Given the description of an element on the screen output the (x, y) to click on. 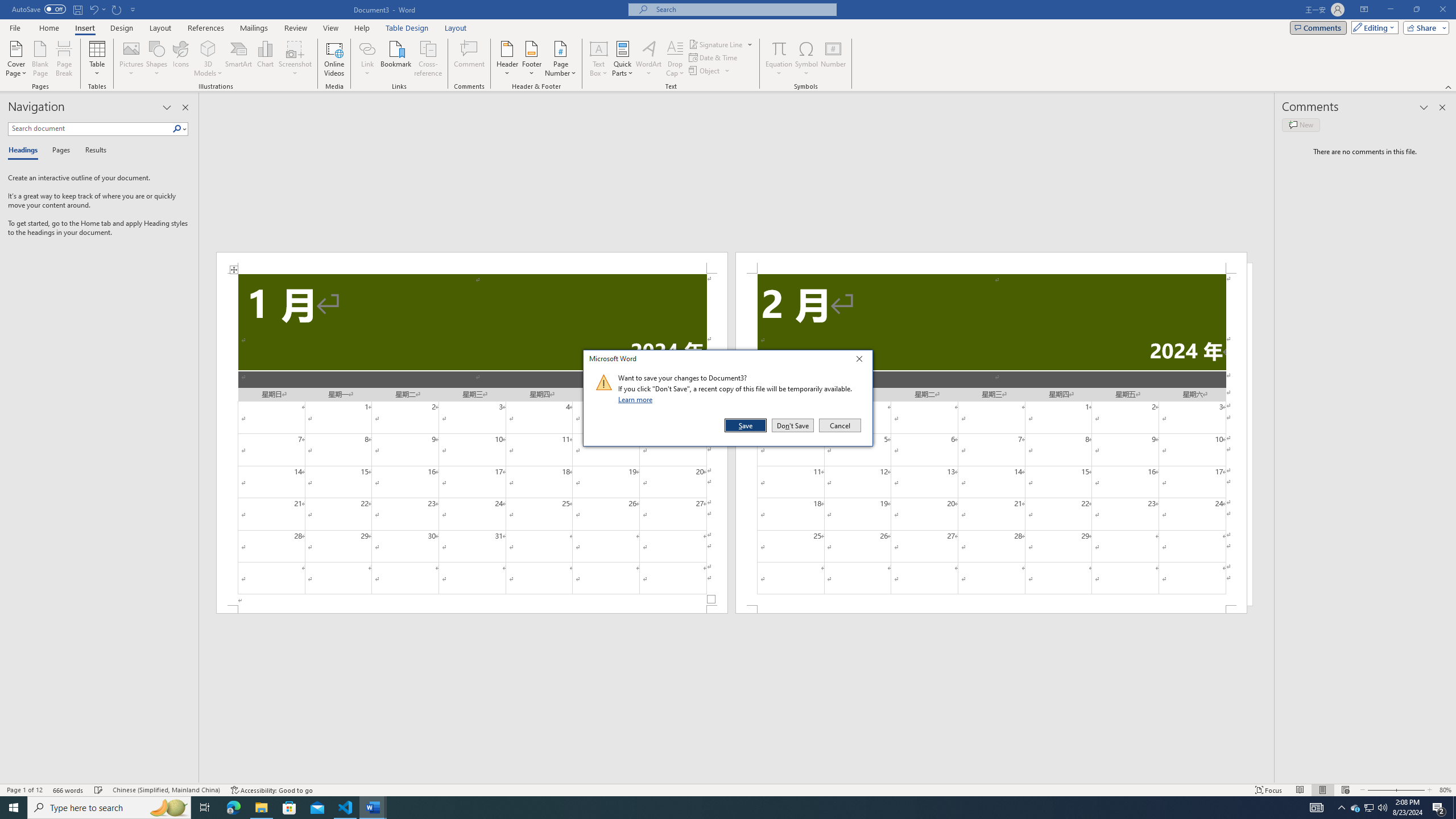
Page Break (63, 58)
Bookmark... (396, 58)
Symbol (806, 58)
Drop Cap (674, 58)
Running applications (717, 807)
Blank Page (40, 58)
Word - 2 running windows (373, 807)
Signature Line (716, 44)
